Given the description of an element on the screen output the (x, y) to click on. 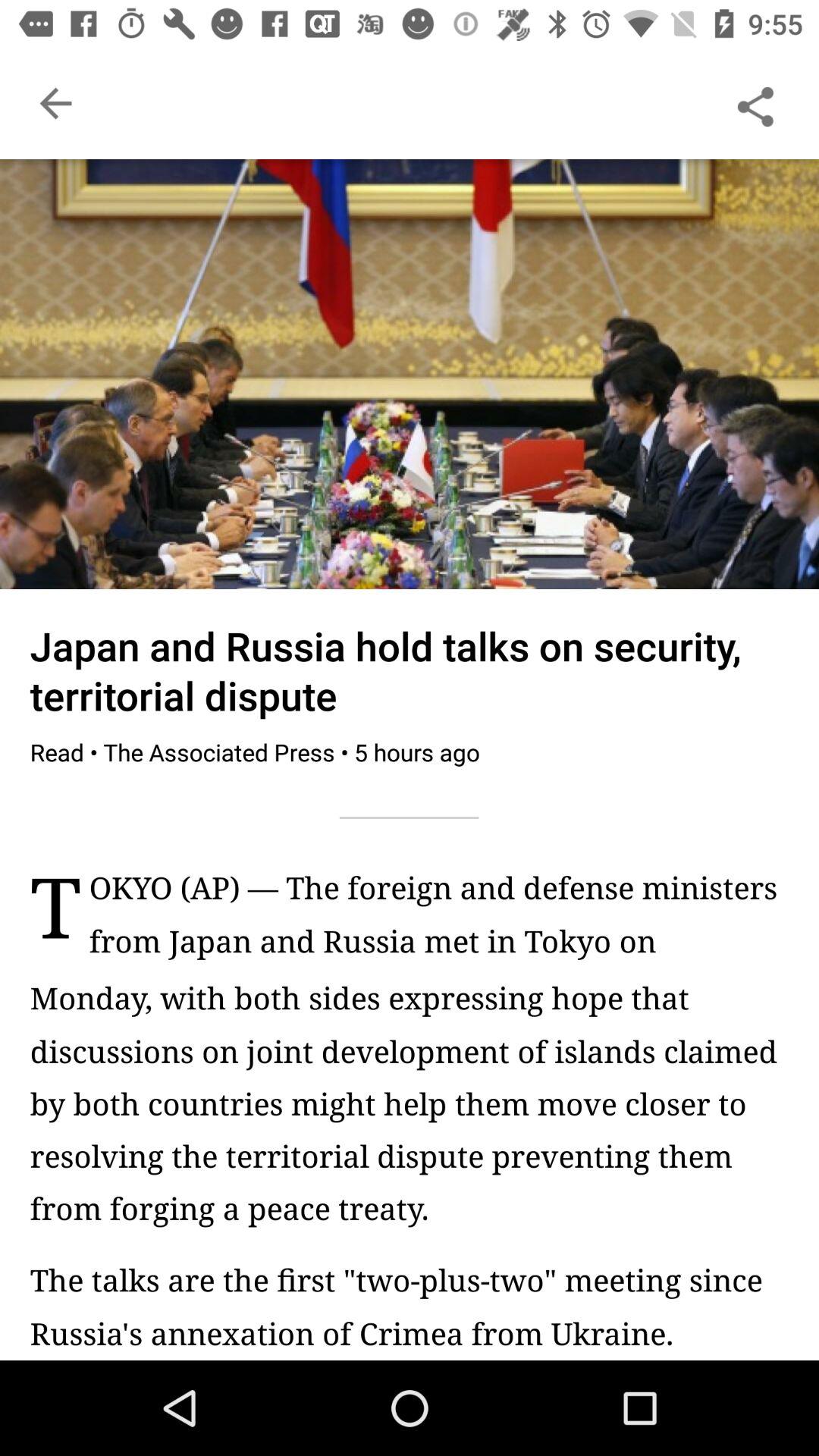
tap the icon at the top left corner (55, 103)
